Given the description of an element on the screen output the (x, y) to click on. 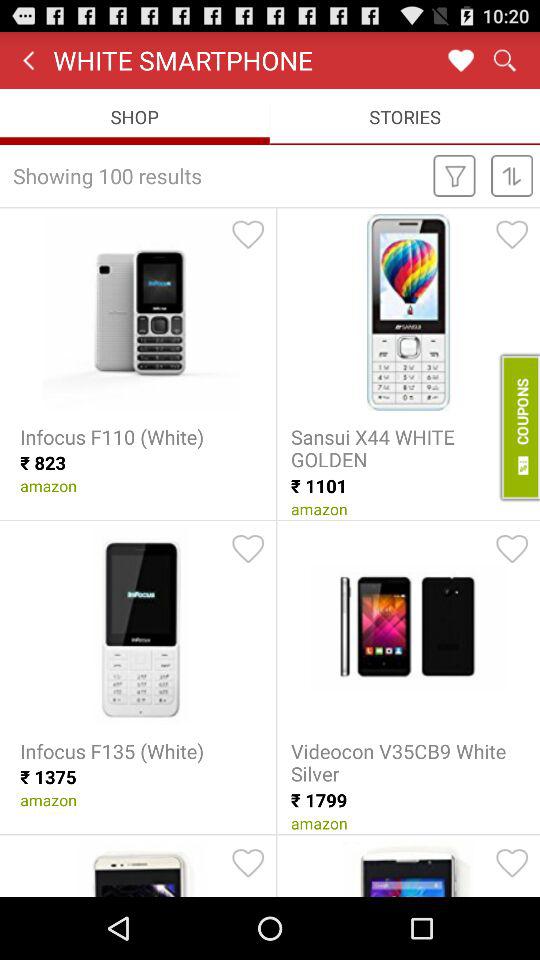
go back (460, 60)
